Given the description of an element on the screen output the (x, y) to click on. 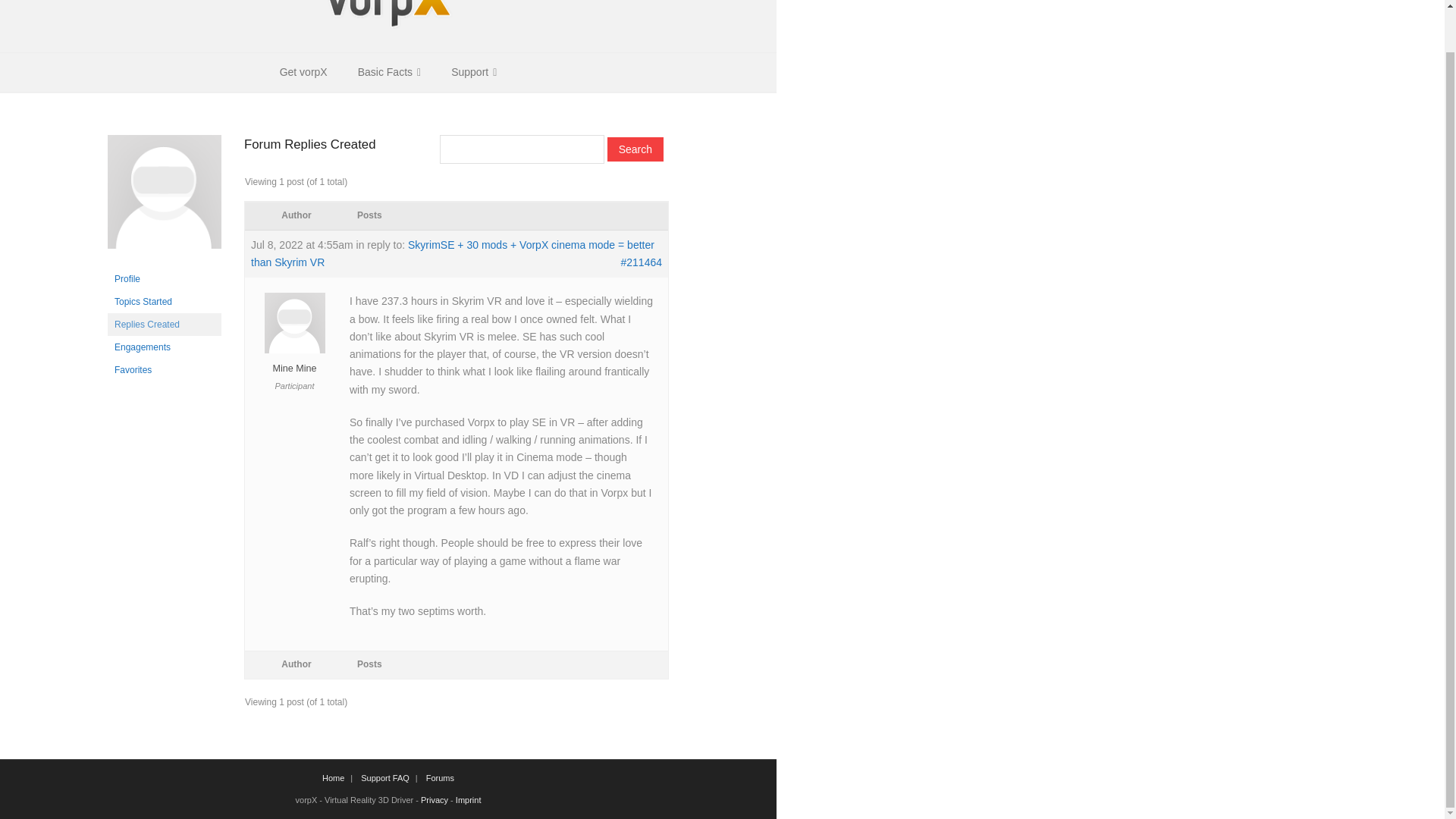
Privacy (434, 799)
Get vorpX (303, 72)
Favorites (164, 369)
Mine Mine's Engagements (164, 346)
Engagements (164, 346)
Mine Mine's Replies Created (164, 323)
Search (635, 149)
Mine Mine's Profile (164, 278)
Support FAQ (384, 777)
View Mine Mine's profile (293, 360)
Forums (440, 777)
Home (332, 777)
Profile (164, 278)
Basic Facts (388, 72)
Mine Mine's Favorites (164, 369)
